Given the description of an element on the screen output the (x, y) to click on. 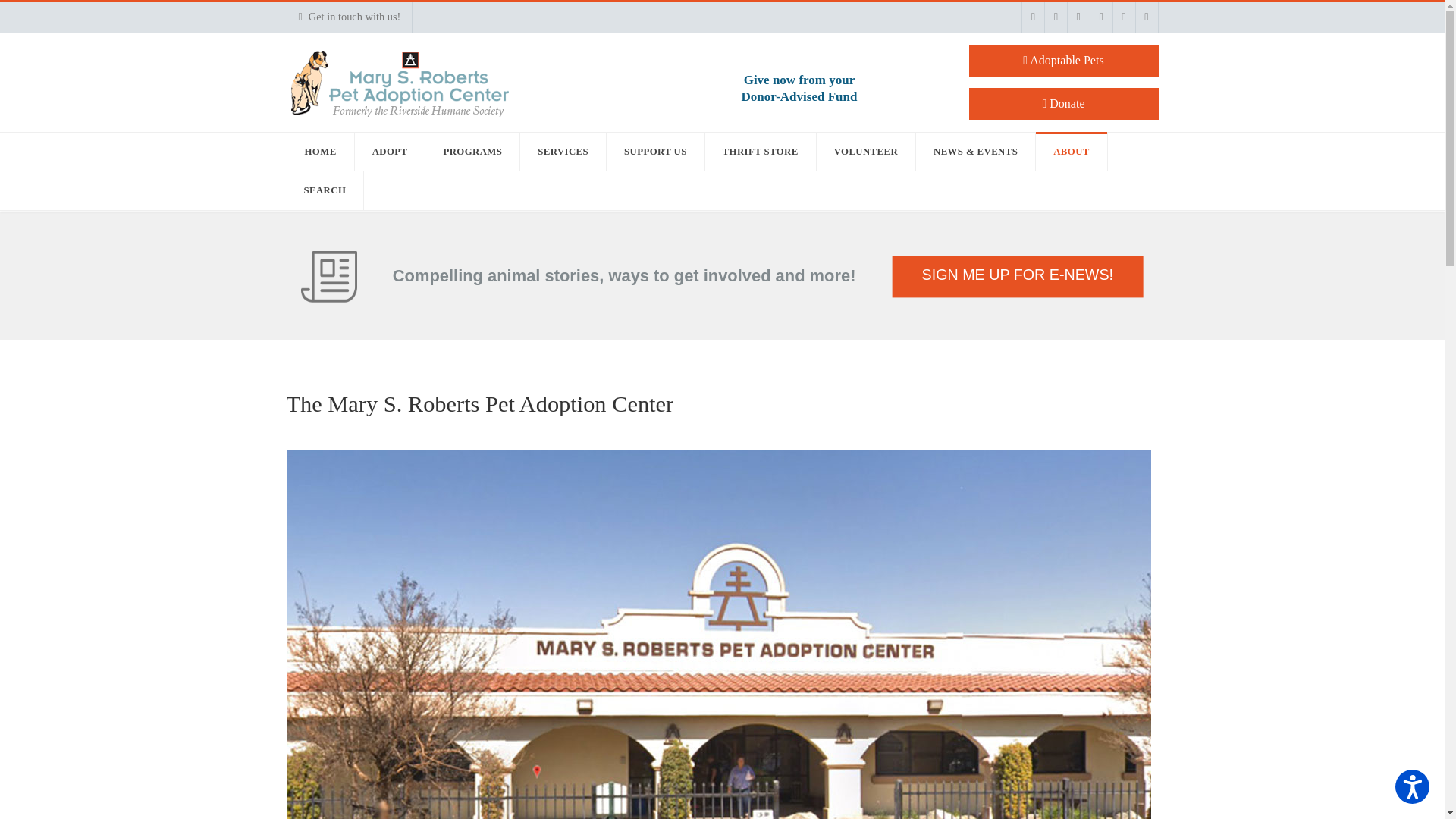
HOME (320, 151)
Get in touch with us! (349, 17)
Adoptable Pets (1063, 60)
Donate (1063, 103)
Mary S. Roberts Pet Adoption Center (799, 88)
